Given the description of an element on the screen output the (x, y) to click on. 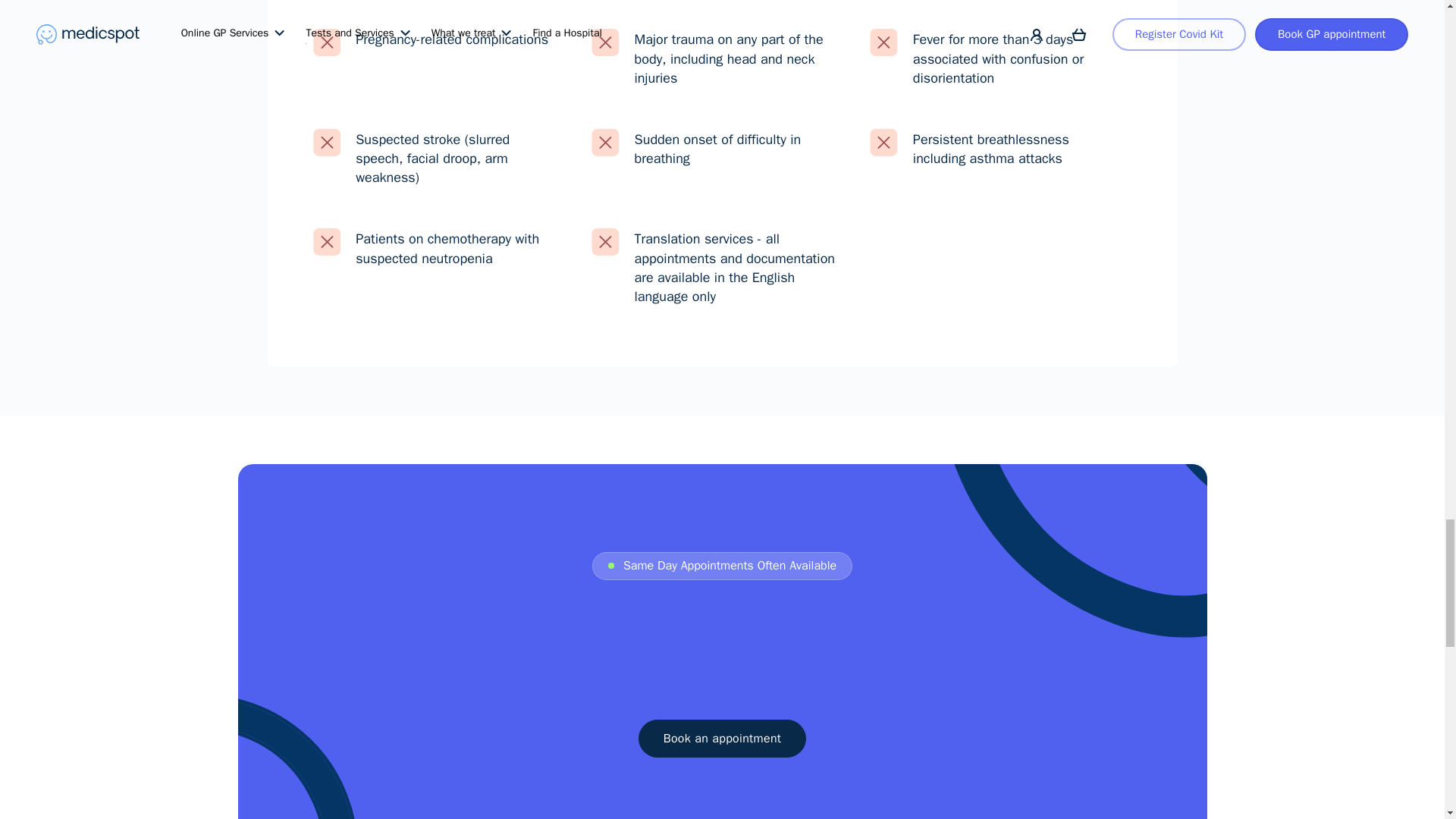
Book an appointment (722, 738)
